Given the description of an element on the screen output the (x, y) to click on. 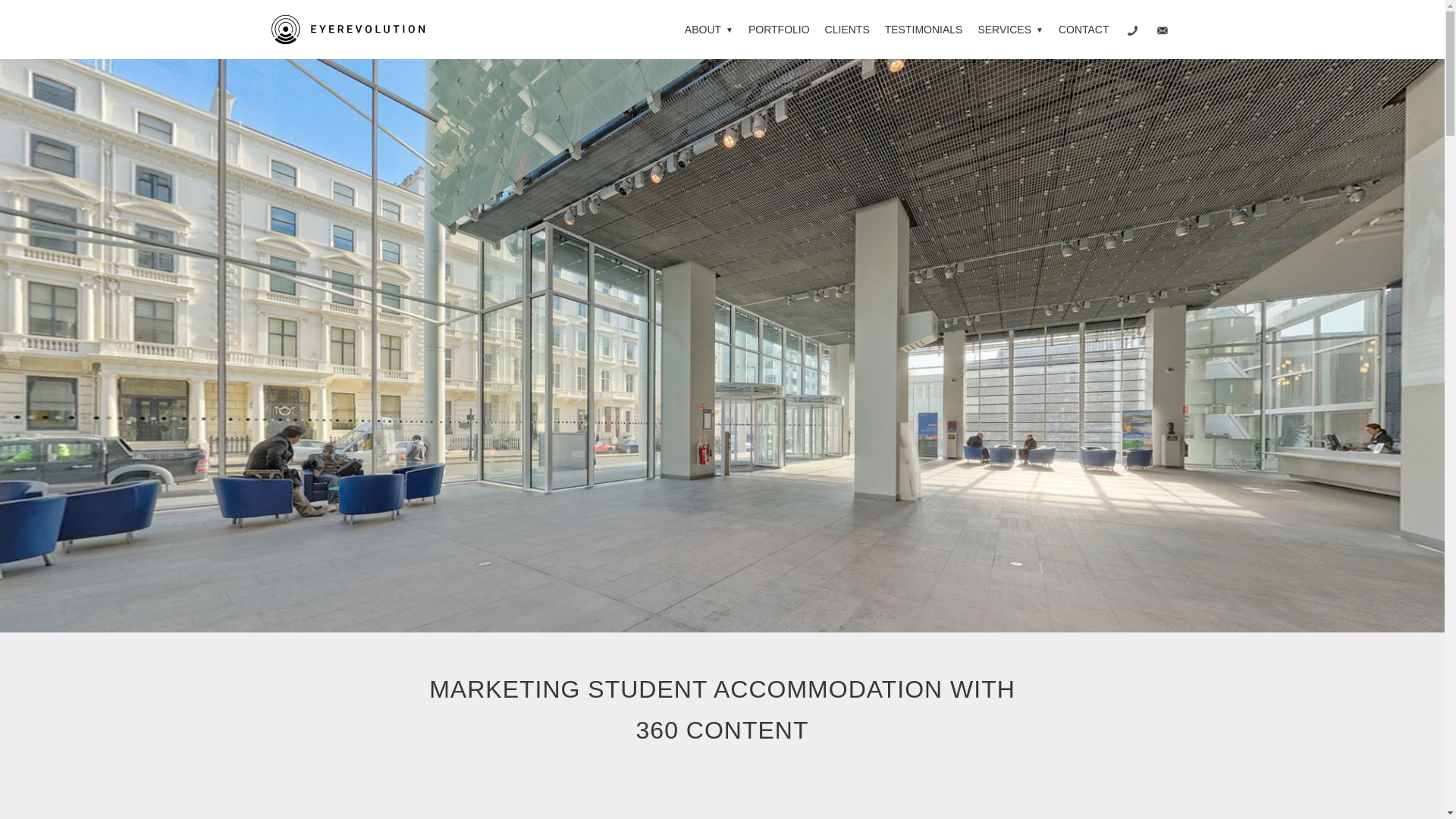
CONTACT (1083, 29)
SERVICES (1009, 29)
ABOUT (709, 29)
CLIENTS (846, 29)
TESTIMONIALS (924, 29)
PORTFOLIO (778, 29)
